Given the description of an element on the screen output the (x, y) to click on. 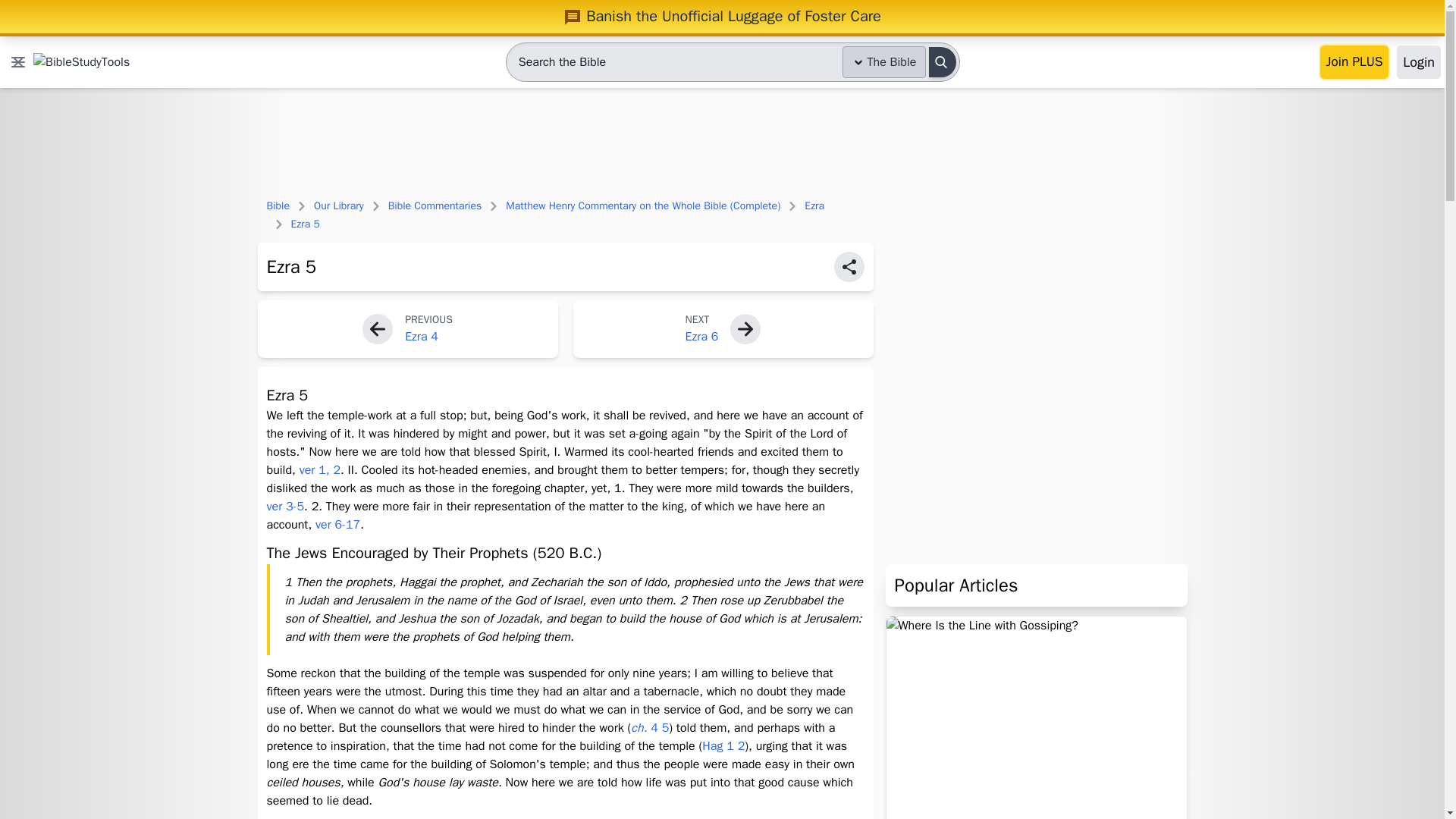
Banish the Unofficial Luggage of Foster Care (721, 16)
The Bible (884, 61)
Login (1418, 62)
Join PLUS (1354, 62)
